Given the description of an element on the screen output the (x, y) to click on. 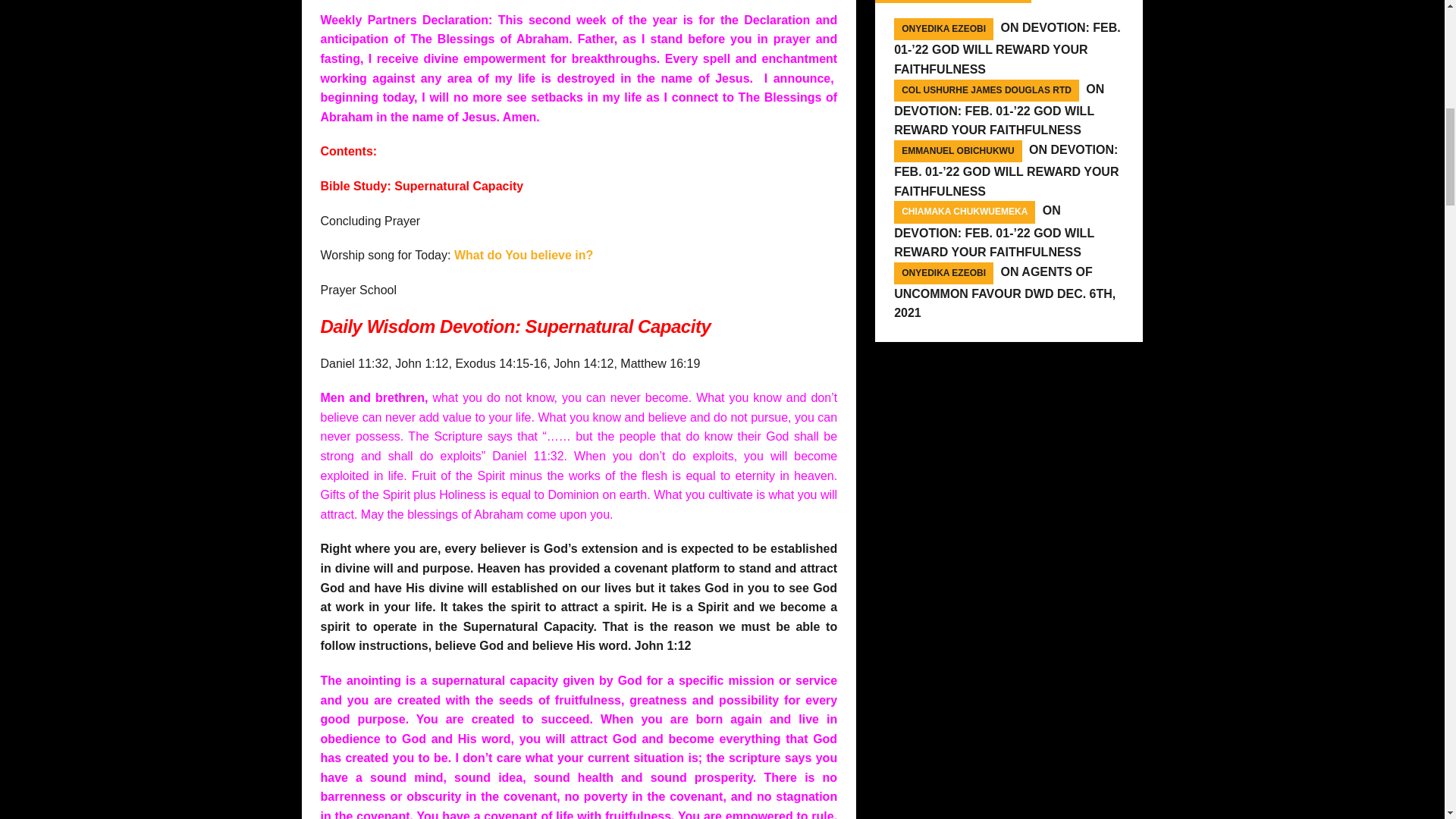
What do You believe in? (523, 254)
